Given the description of an element on the screen output the (x, y) to click on. 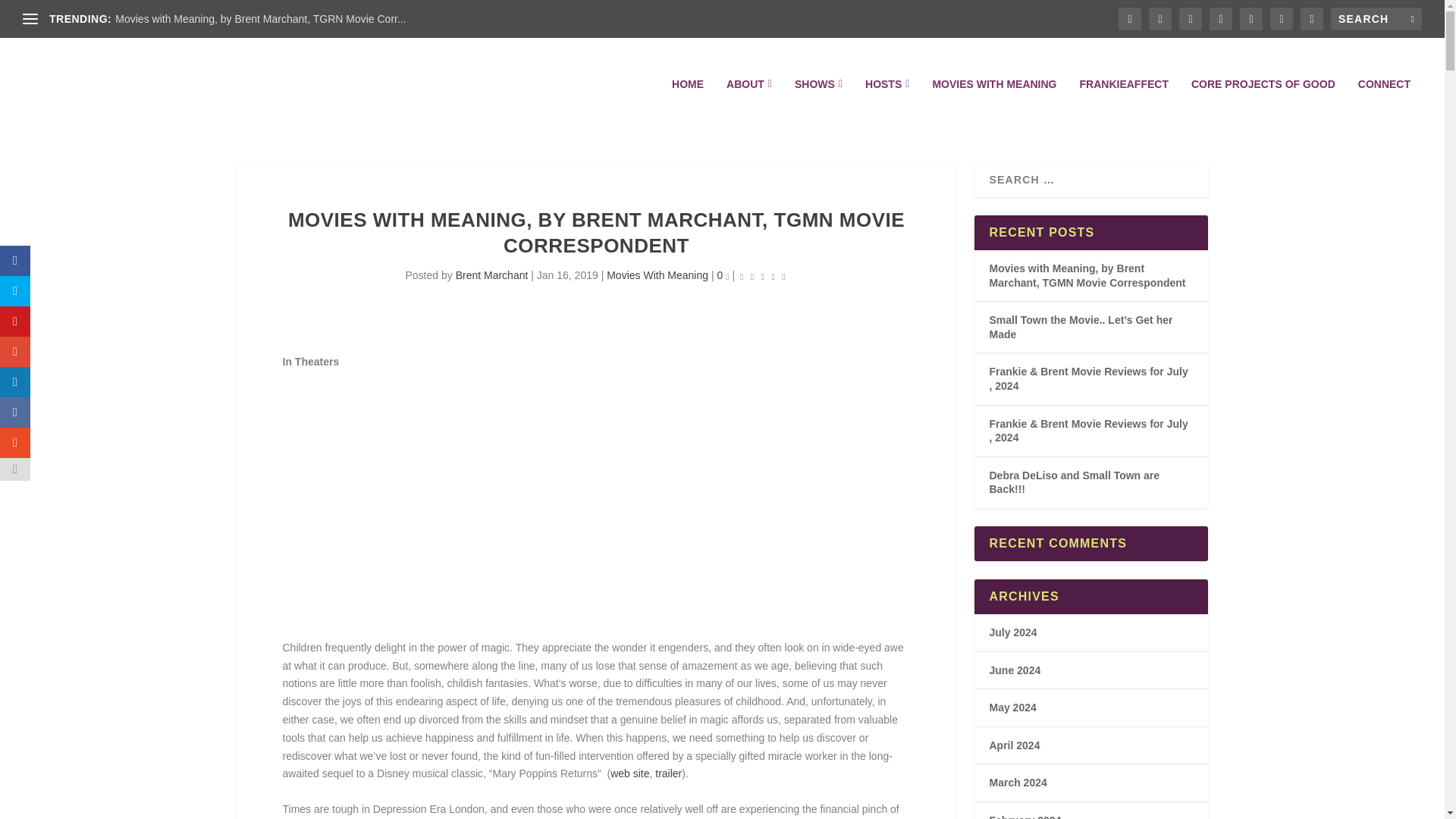
CORE PROJECTS OF GOOD (1263, 104)
web site (629, 773)
Brent Marchant (491, 275)
CONNECT (1384, 104)
Posts by Brent Marchant (491, 275)
trailer (668, 773)
Search for: (1376, 18)
0 (722, 275)
Movies With Meaning (657, 275)
Movies with Meaning, by Brent Marchant, TGRN Movie Corr... (260, 19)
